Given the description of an element on the screen output the (x, y) to click on. 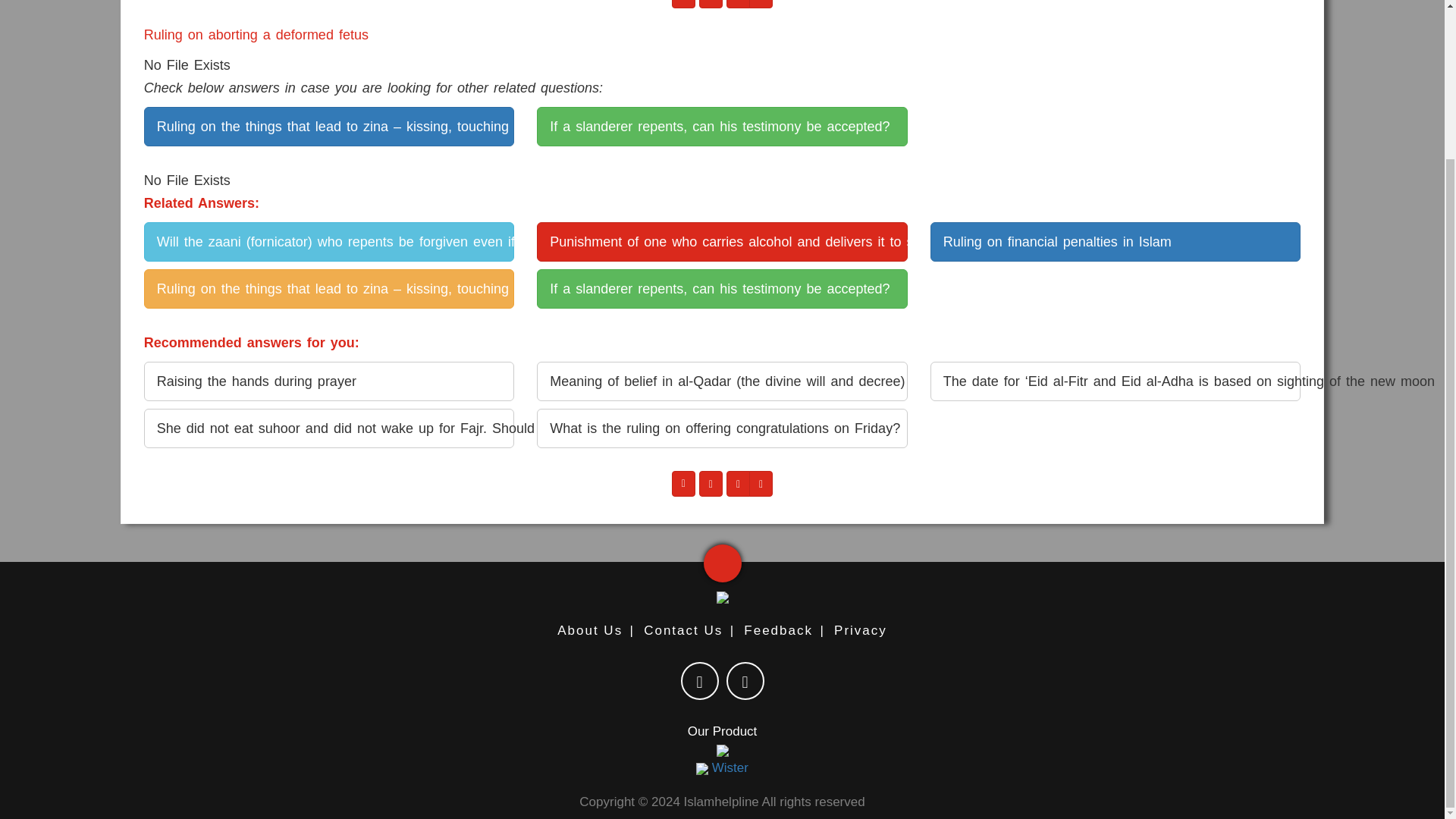
Raising the hands during prayer (328, 381)
Ruling on financial penalties in Islam (1115, 241)
What is the ruling on offering congratulations on Friday? (722, 427)
If a slanderer repents, can his testimony be accepted? (722, 288)
If a slanderer repents, can his testimony be accepted? (722, 126)
